Given the description of an element on the screen output the (x, y) to click on. 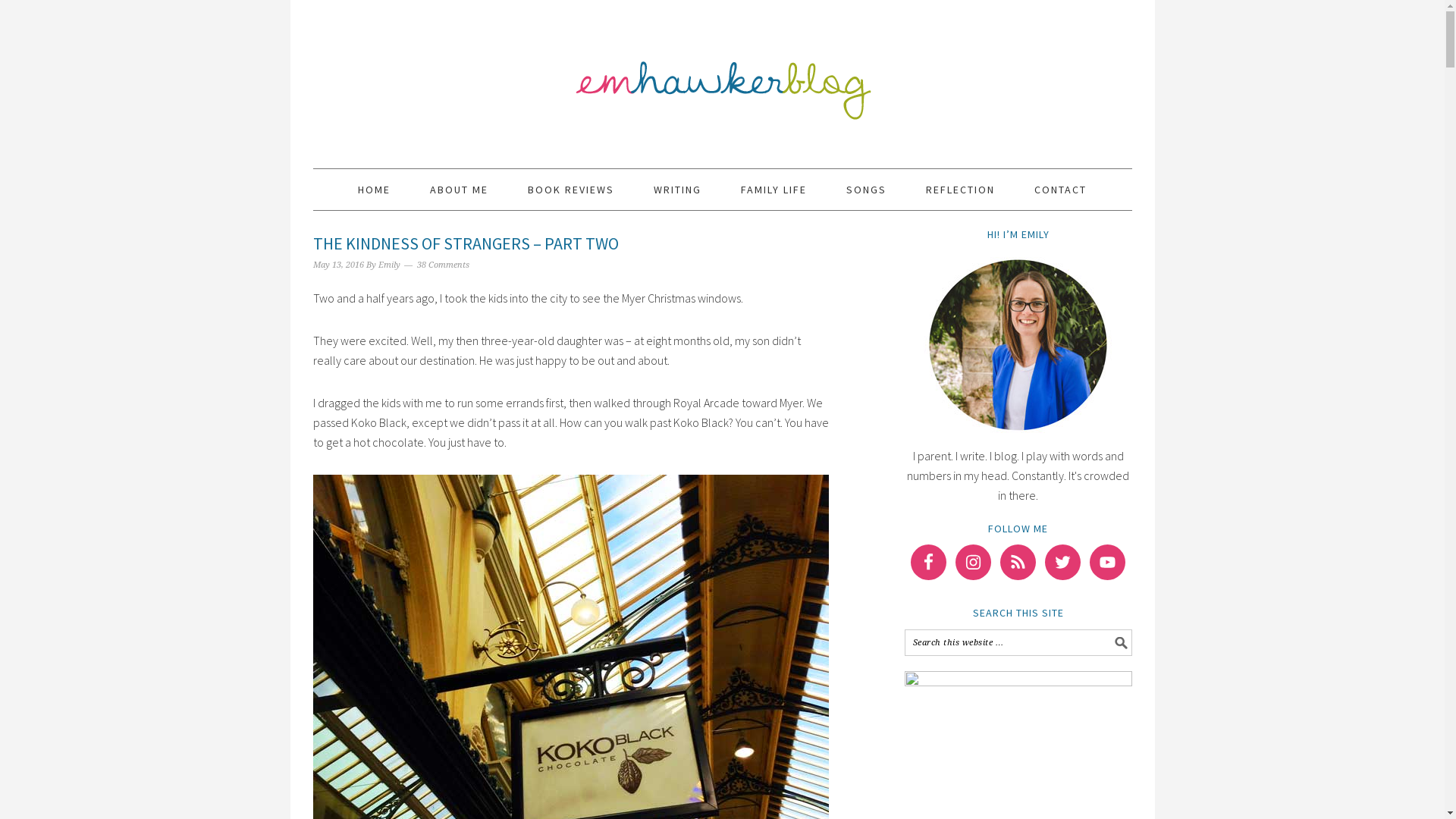
FAMILY LIFE Element type: text (773, 189)
Search Element type: text (1131, 628)
SONGS Element type: text (866, 189)
Emily Element type: text (388, 264)
REFLECTION Element type: text (959, 189)
WRITING Element type: text (677, 189)
CONTACT Element type: text (1060, 189)
ABOUT ME Element type: text (459, 189)
EMHAWKERBLOG Element type: text (721, 77)
HOME Element type: text (373, 189)
BOOK REVIEWS Element type: text (570, 189)
38 Comments Element type: text (443, 264)
